Given the description of an element on the screen output the (x, y) to click on. 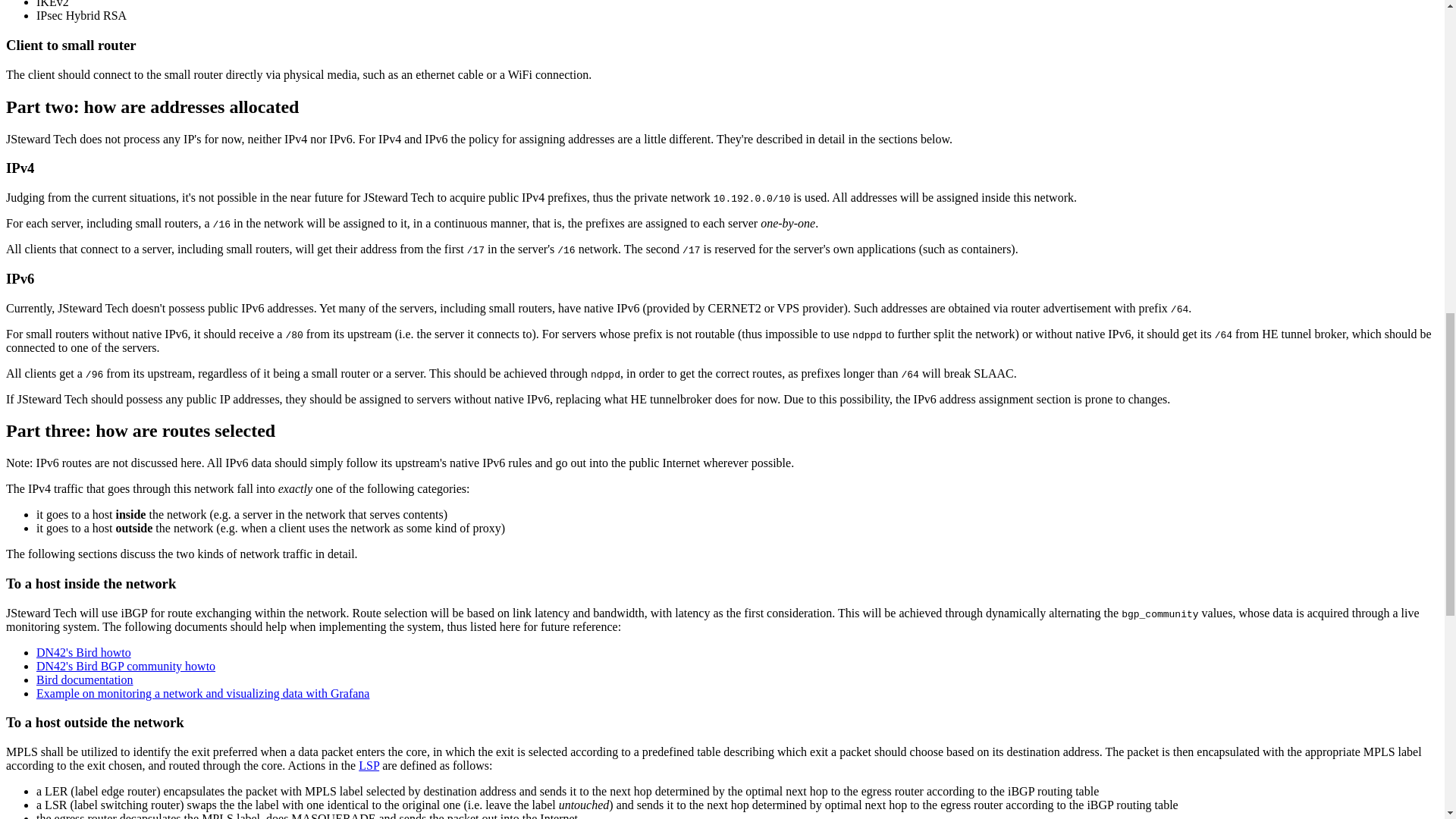
DN42's Bird howto (83, 652)
Bird documentation (84, 679)
LSP (368, 765)
DN42's Bird BGP community howto (125, 666)
